Given the description of an element on the screen output the (x, y) to click on. 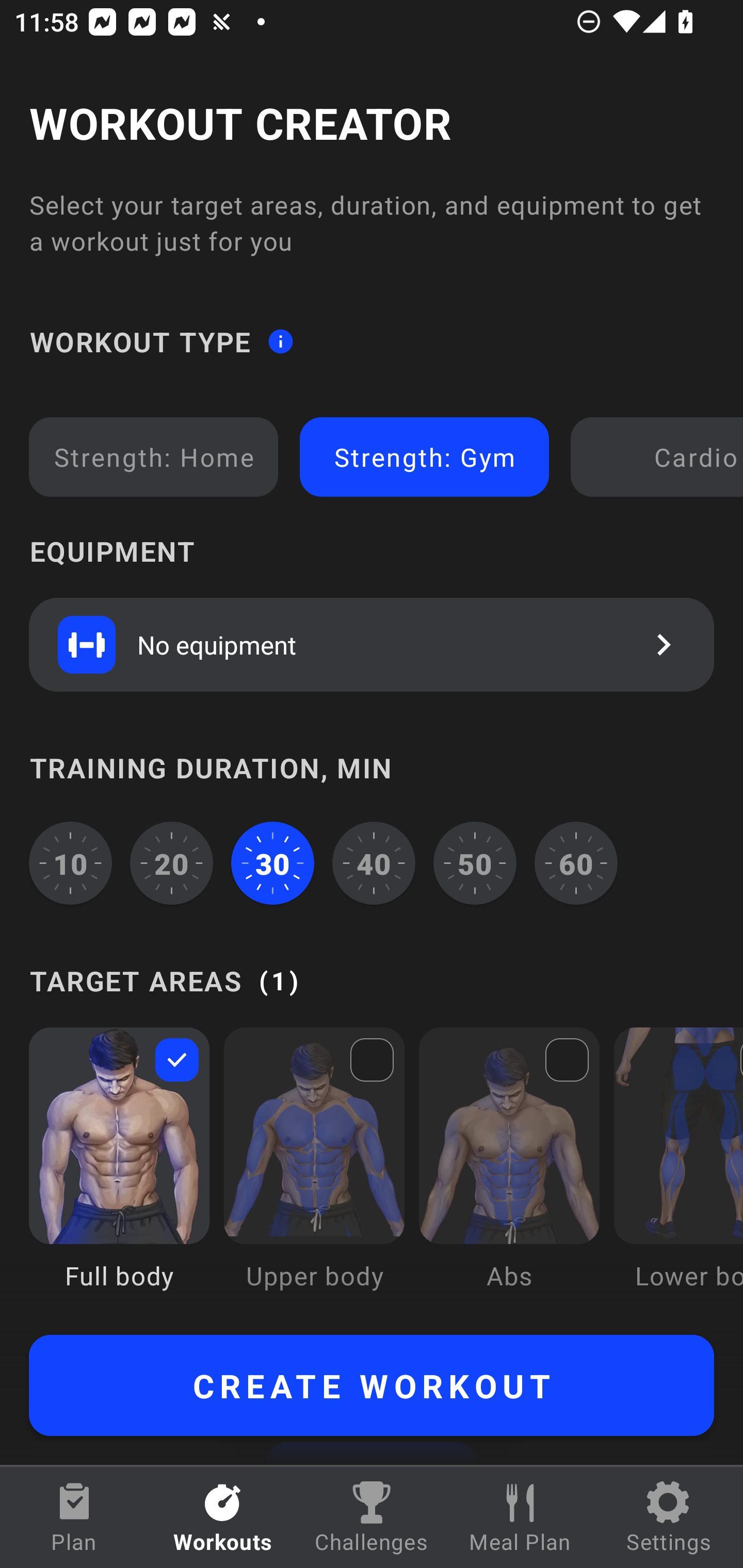
Workout type information button (280, 340)
Strength: Home (153, 457)
Cardio (660, 457)
No equipment (371, 644)
10 (70, 863)
20 (171, 863)
30 (272, 863)
40 (373, 863)
50 (474, 863)
60 (575, 863)
Upper body (313, 1172)
Abs (509, 1172)
Lower body (678, 1172)
CREATE WORKOUT (371, 1385)
 Plan  (74, 1517)
 Challenges  (371, 1517)
 Meal Plan  (519, 1517)
 Settings  (668, 1517)
